Given the description of an element on the screen output the (x, y) to click on. 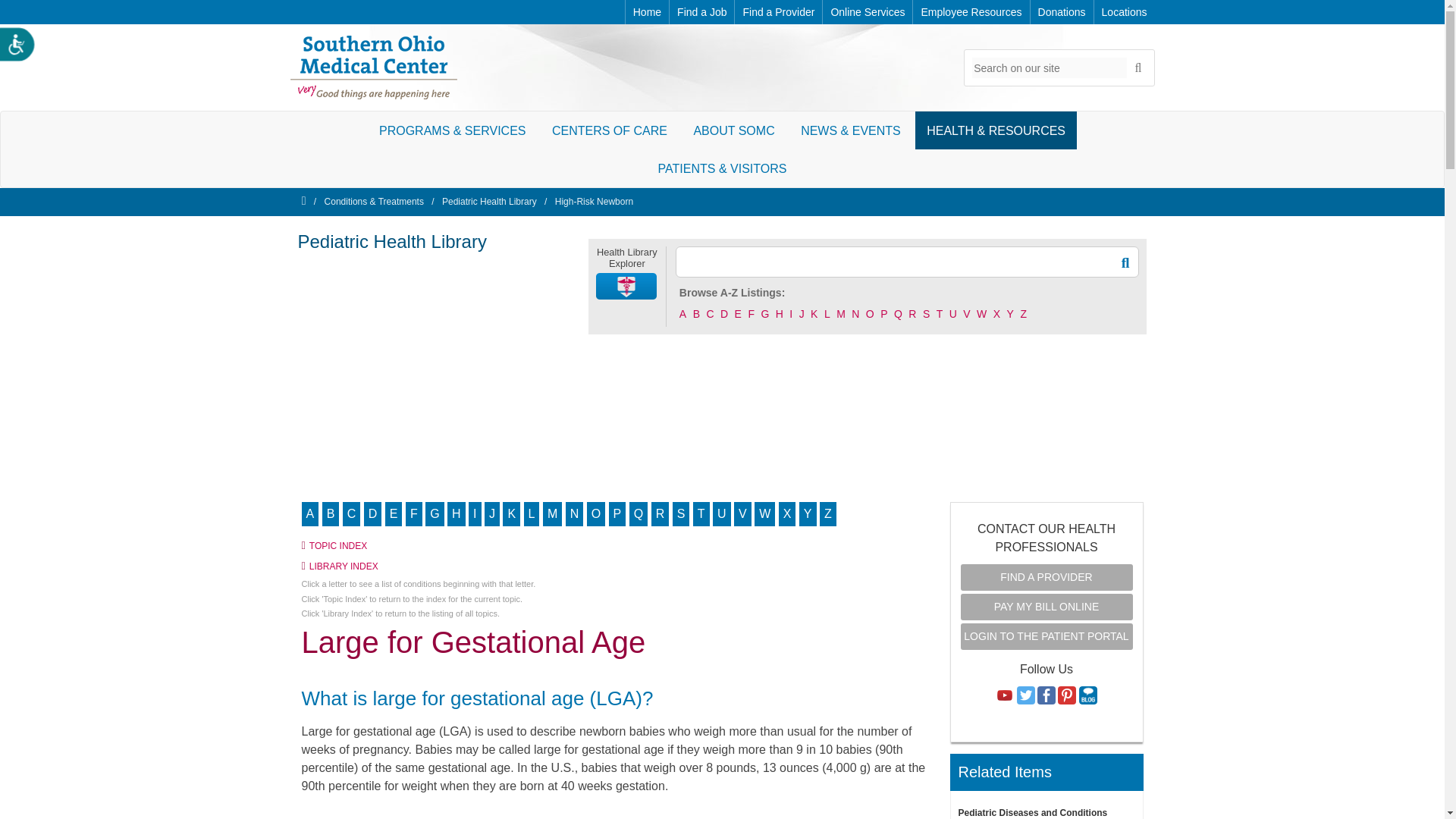
Search for: (1049, 67)
About SOMC (733, 130)
Online Services (867, 12)
Home (647, 12)
Donations (1061, 12)
Locations (1124, 12)
Find a Provider (778, 12)
Centers of Care (609, 130)
ABOUT SOMC (733, 130)
Find a Provider (778, 12)
Employee Resources (970, 12)
Online Services (867, 12)
CENTERS OF CARE (609, 130)
Find a Job (701, 12)
Locations (1124, 12)
